Given the description of an element on the screen output the (x, y) to click on. 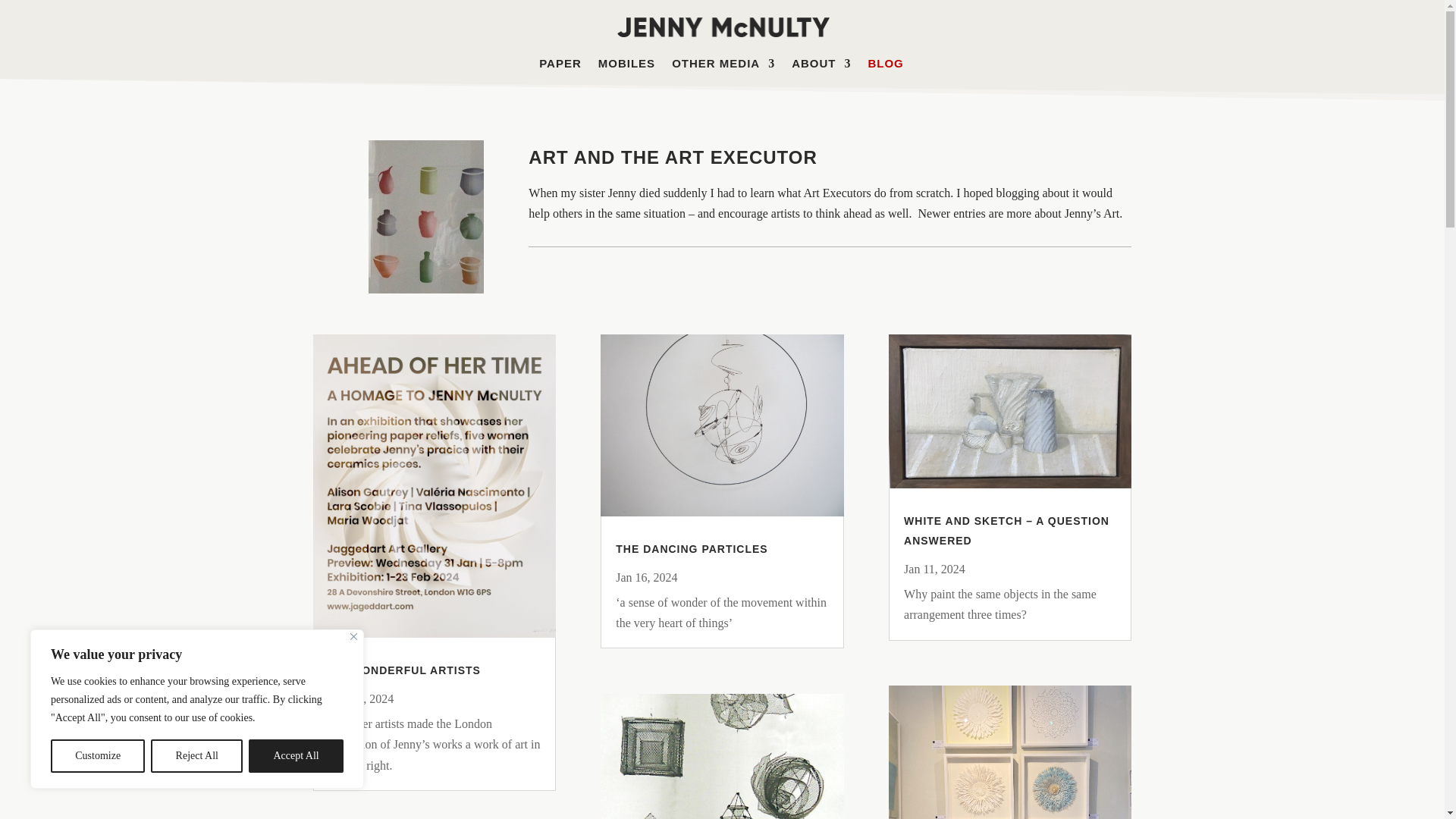
ABOUT (821, 68)
PAPER (559, 68)
Accept All (295, 756)
Reject All (197, 756)
OTHER MEDIA (722, 68)
Customize (97, 756)
BLOG (884, 68)
MOBILES (626, 68)
